Given the description of an element on the screen output the (x, y) to click on. 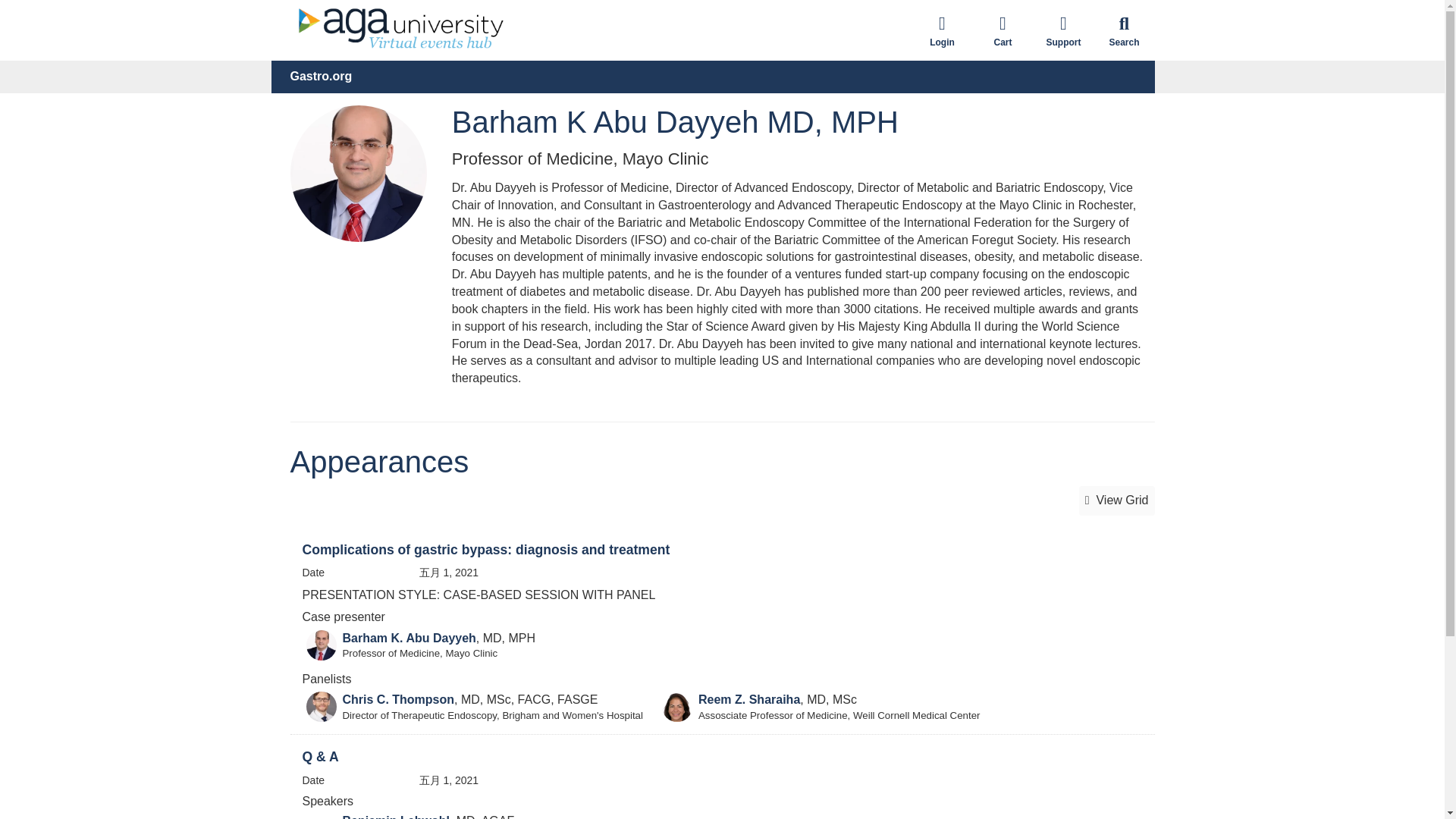
Complications of gastric bypass: diagnosis and treatment (485, 549)
Speaker Image for Barham Abu Dayyeh (320, 644)
Search (1123, 30)
Speaker Image for Reem Sharaiha (677, 706)
Support (1062, 30)
  View Grid (1116, 500)
Login (941, 30)
Search (1123, 30)
Cart (1002, 30)
Chris C. Thompson (398, 698)
Login (941, 30)
Speaker Image for Chris Thompson (320, 706)
Gastro.org (320, 76)
Barham K. Abu Dayyeh (409, 637)
Benjamin Lebwohl (395, 816)
